Given the description of an element on the screen output the (x, y) to click on. 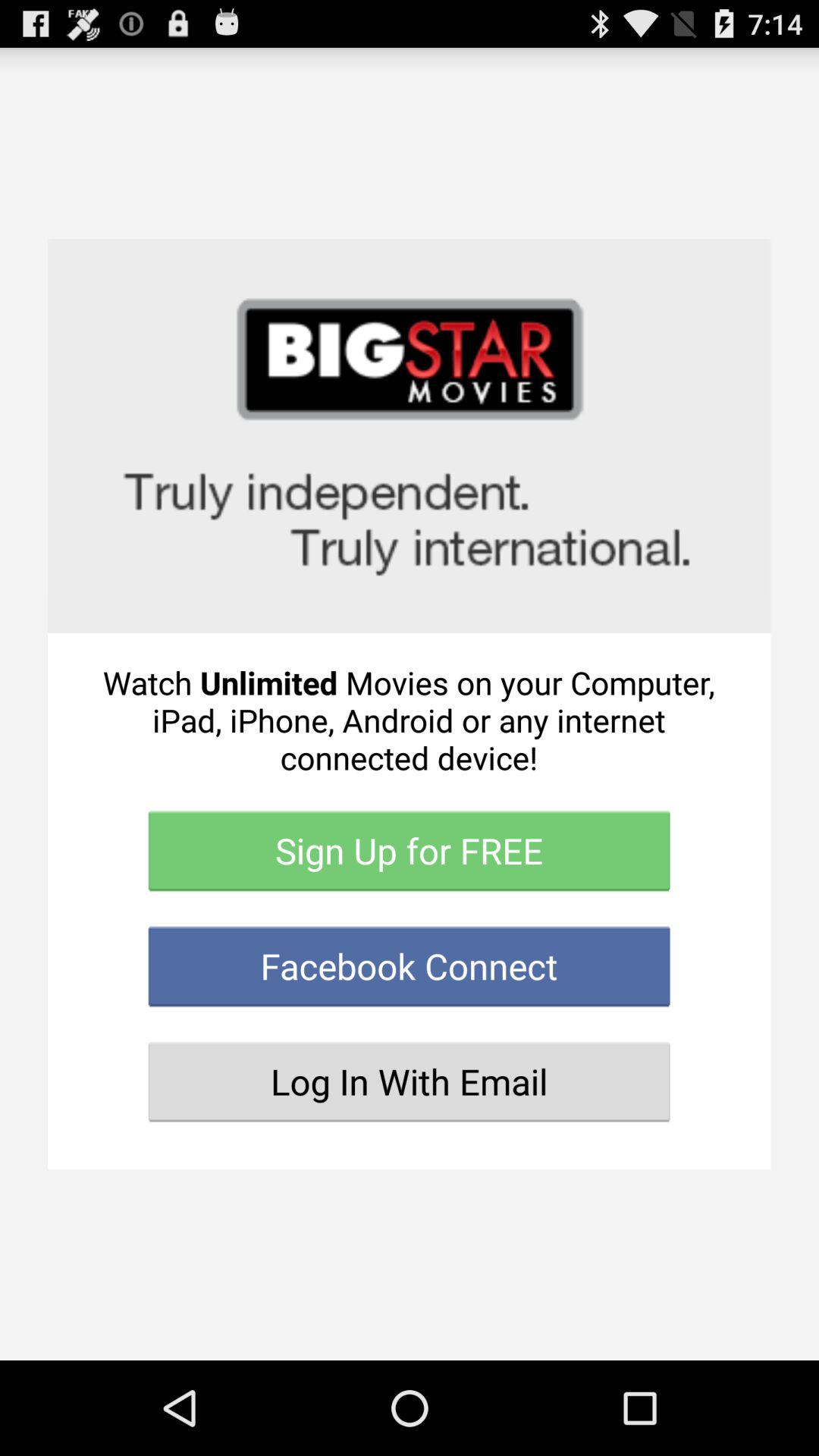
swipe to facebook connect item (408, 966)
